Given the description of an element on the screen output the (x, y) to click on. 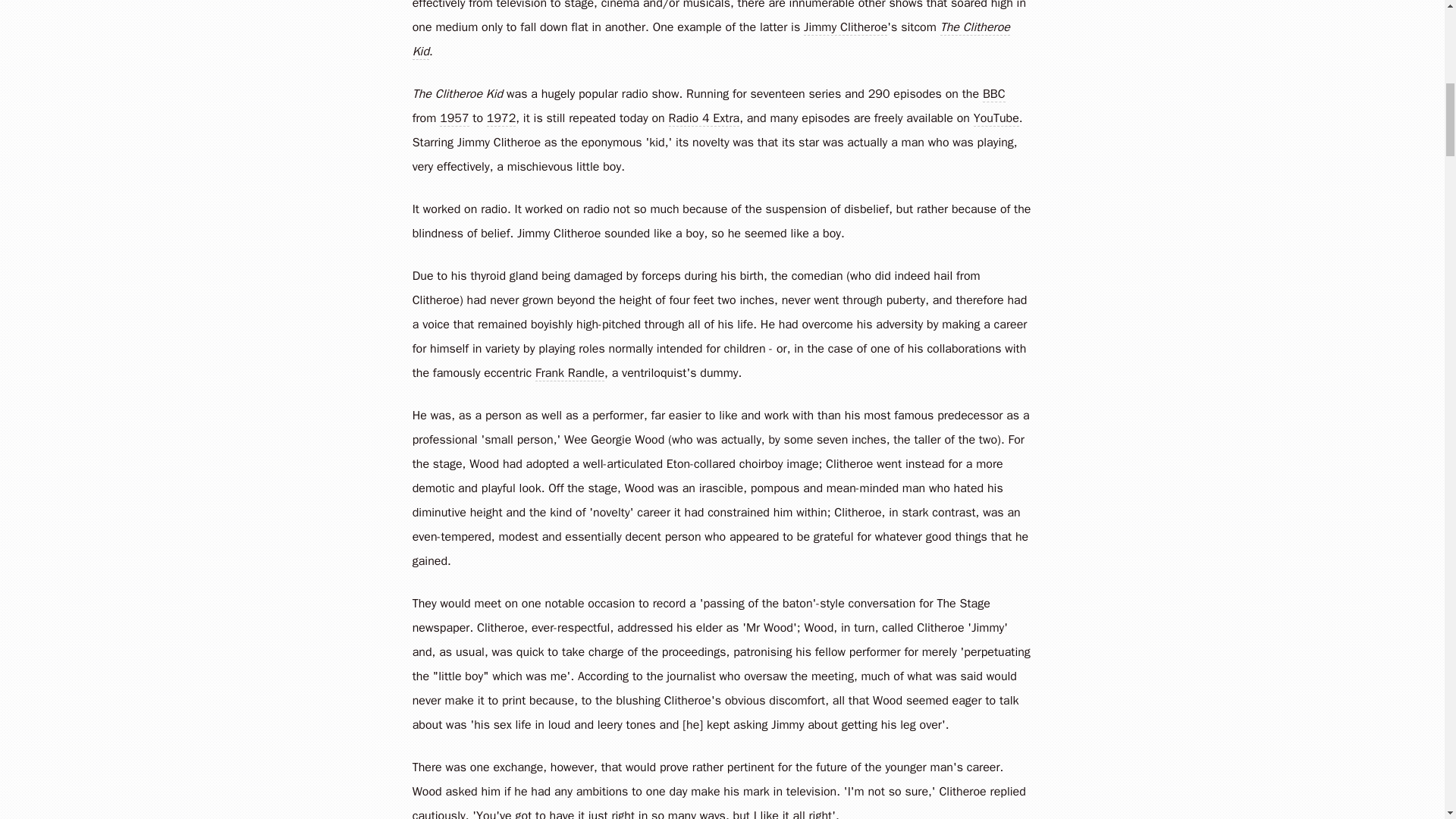
1972 (500, 118)
Radio 4 Extra (703, 118)
1957 (453, 118)
More details about BBC Radio 4 Extra (703, 118)
The Clitheroe Kid: 1957 - 1972 sitcom. Click for a guide. (457, 93)
Jimmy Clitheroe profile (557, 233)
The Clitheroe Kid (457, 93)
The Clitheroe Kid: 1957 - 1972 sitcom. Click for a guide. (711, 39)
More details about YouTube (996, 118)
A guide to the year 1972 (500, 118)
